Given the description of an element on the screen output the (x, y) to click on. 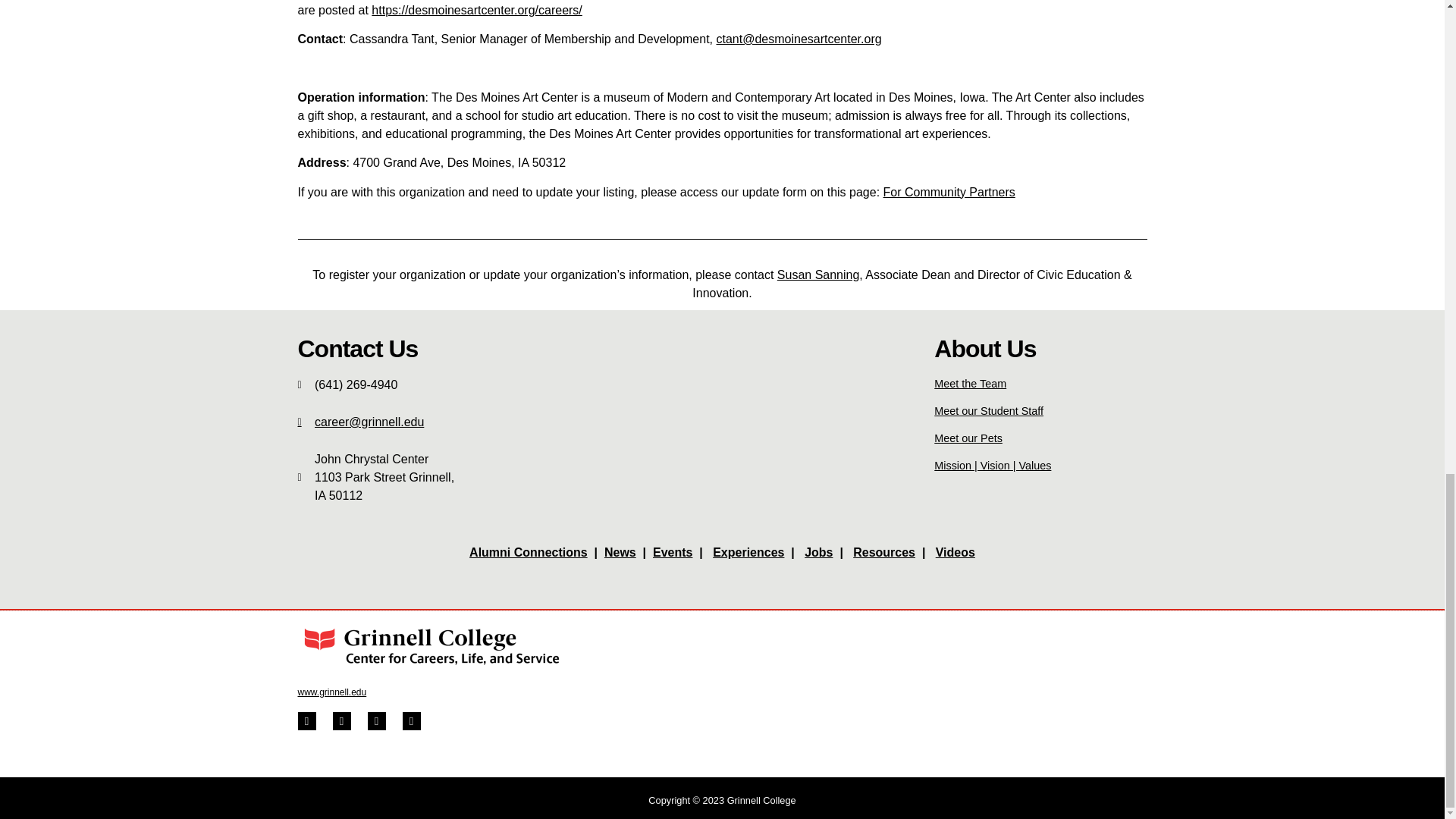
For Community Partners (948, 192)
Meet our Student Staff (988, 410)
News (620, 552)
Meet our Pets (968, 438)
Videos (955, 552)
Events (672, 552)
www.grinnell.edu (331, 692)
Susan Sanning (818, 274)
Experiences (748, 552)
Meet the Team (970, 383)
Resources (884, 552)
Alumni Connections (528, 552)
Jobs (818, 552)
